Given the description of an element on the screen output the (x, y) to click on. 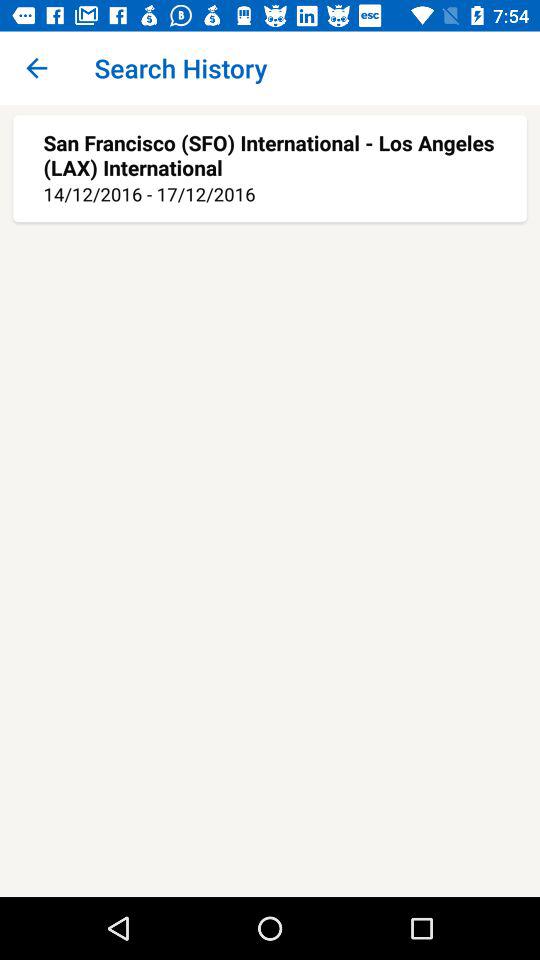
jump to san francisco sfo (269, 154)
